Given the description of an element on the screen output the (x, y) to click on. 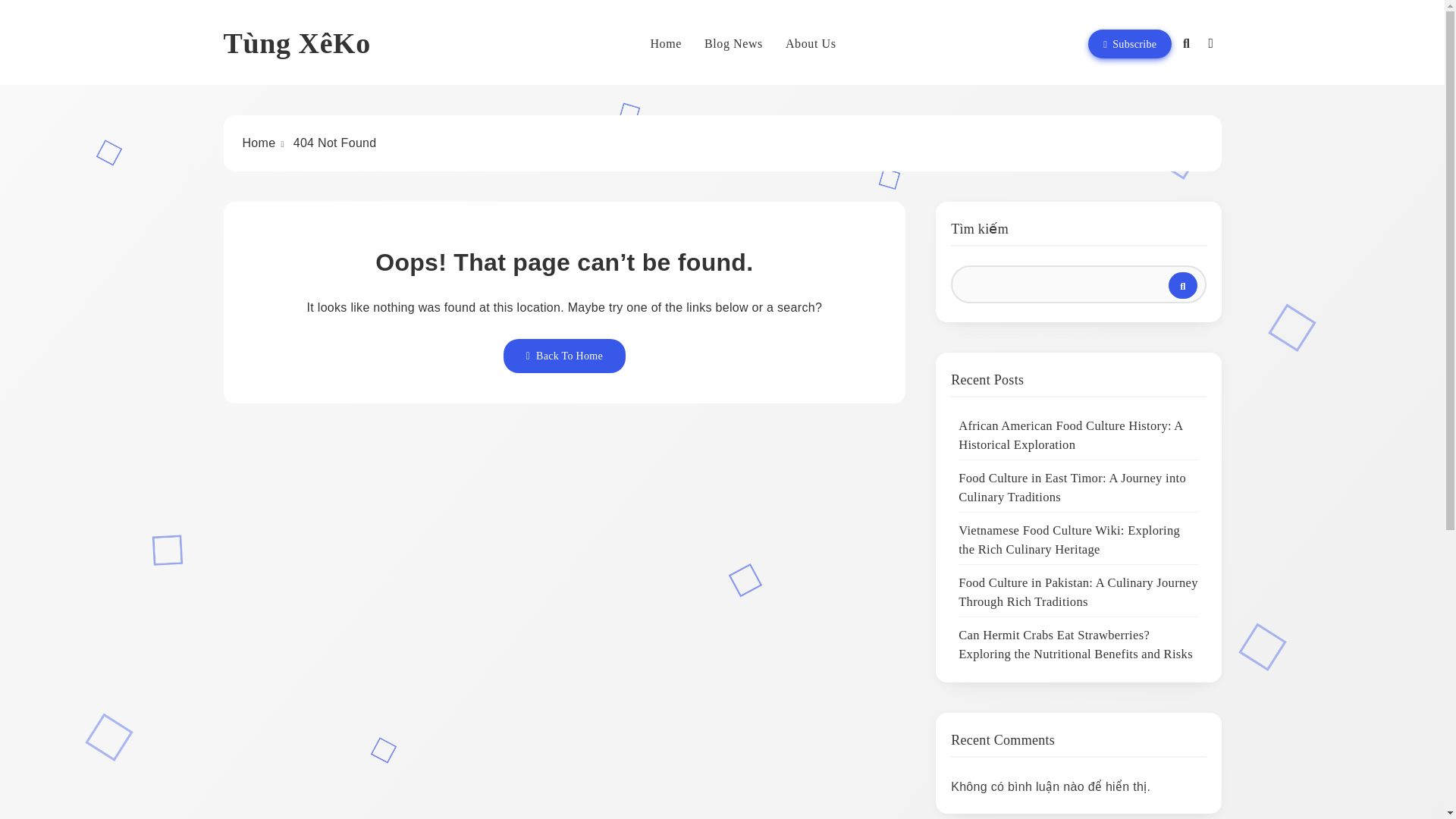
Blog News (733, 44)
About Us (810, 44)
Back To Home (564, 356)
Home (259, 142)
Home (665, 44)
